Given the description of an element on the screen output the (x, y) to click on. 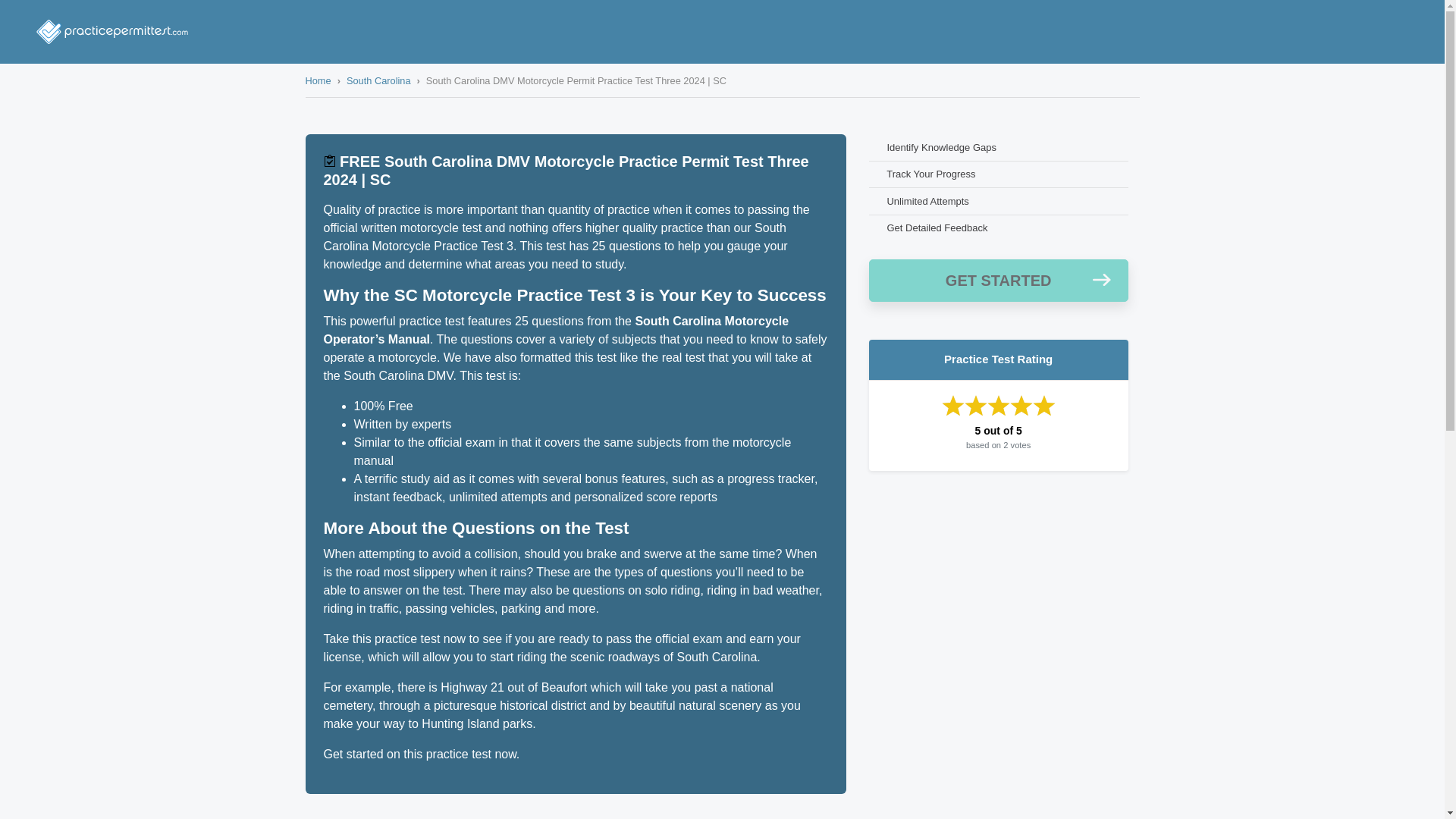
South Carolina (378, 79)
PracticePermitTest.com (111, 31)
Home (317, 79)
GET STARTED (998, 280)
This test is based on the official 2024 CDL Manual (328, 160)
